Given the description of an element on the screen output the (x, y) to click on. 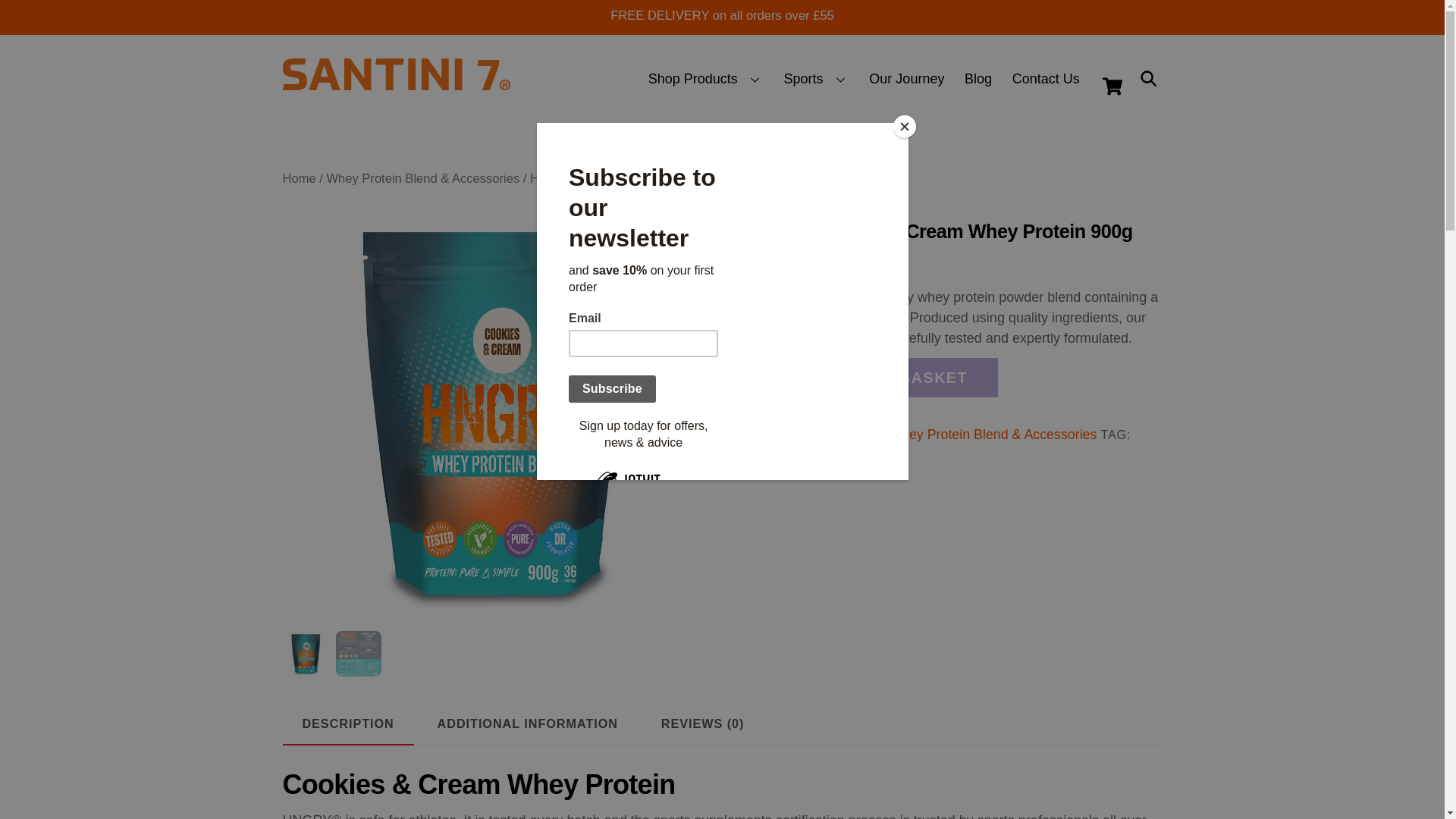
Home (298, 178)
Blog (978, 78)
900g (754, 454)
DESCRIPTION (347, 723)
ADD TO BASKET (898, 377)
Cart (843, 78)
Sports (1111, 86)
1 (816, 78)
Our Journey (764, 372)
Contact Us (907, 78)
Search (1045, 78)
Santini 7 (1142, 78)
ADDITIONAL INFORMATION (395, 81)
